Given the description of an element on the screen output the (x, y) to click on. 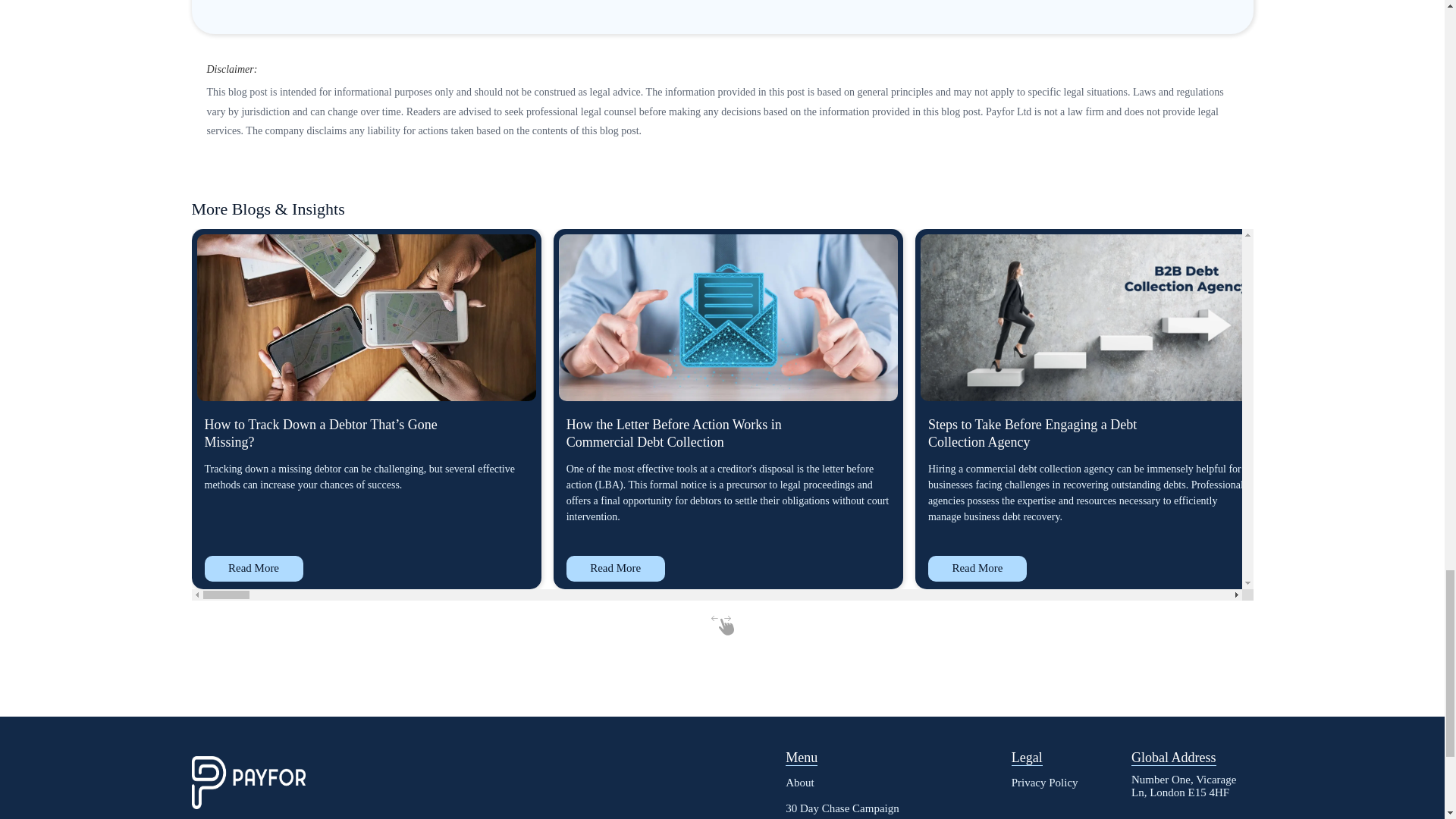
Read More (253, 568)
Read More (977, 568)
Read More (615, 568)
Read More (1339, 568)
